Given the description of an element on the screen output the (x, y) to click on. 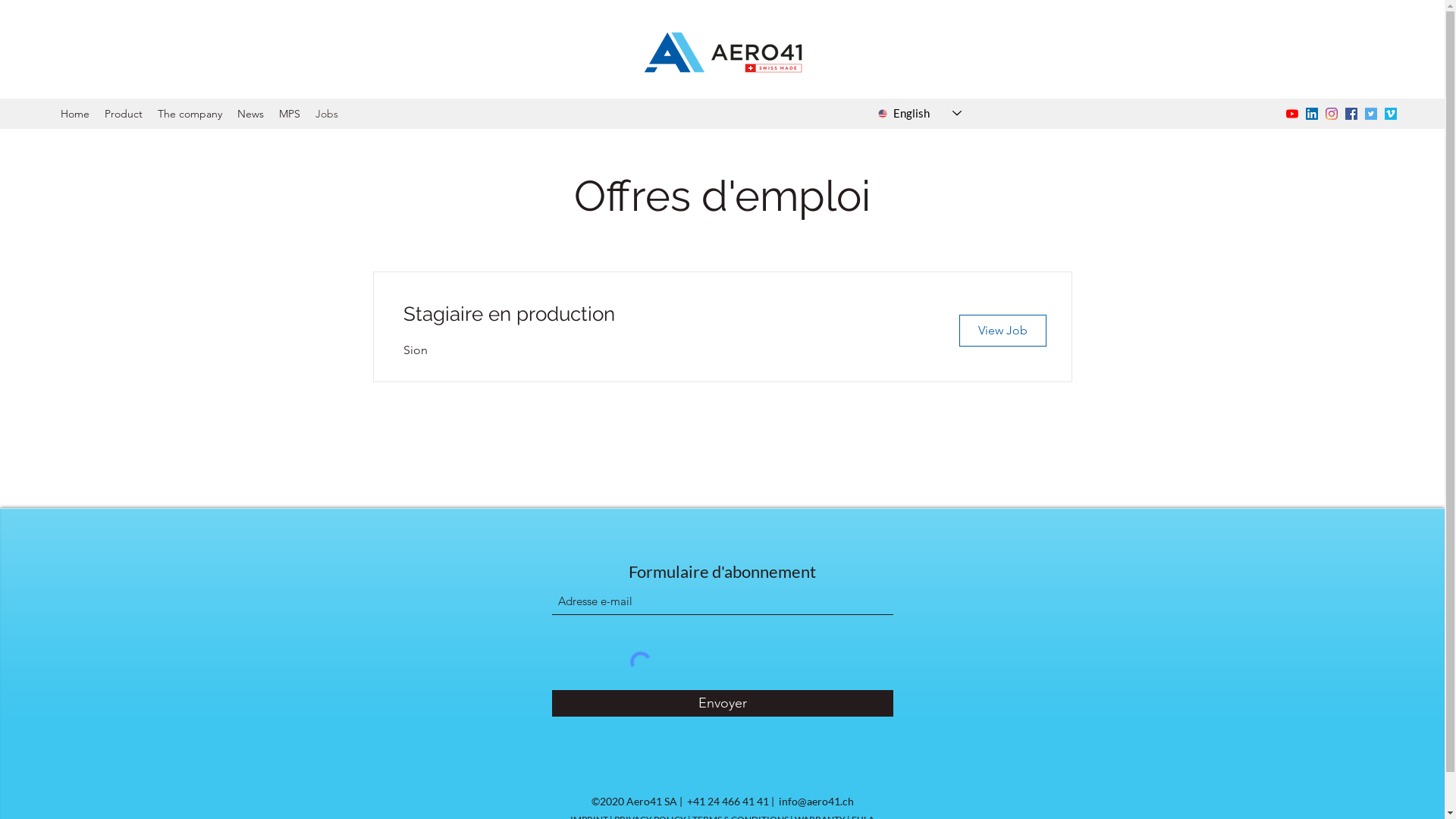
The company Element type: text (189, 113)
Jobs Element type: text (326, 113)
Home Element type: text (75, 113)
info@aero41.ch Element type: text (815, 800)
Product Element type: text (123, 113)
View Job Element type: text (1001, 330)
MPS Element type: text (289, 113)
Envoyer Element type: text (722, 703)
News Element type: text (250, 113)
